Given the description of an element on the screen output the (x, y) to click on. 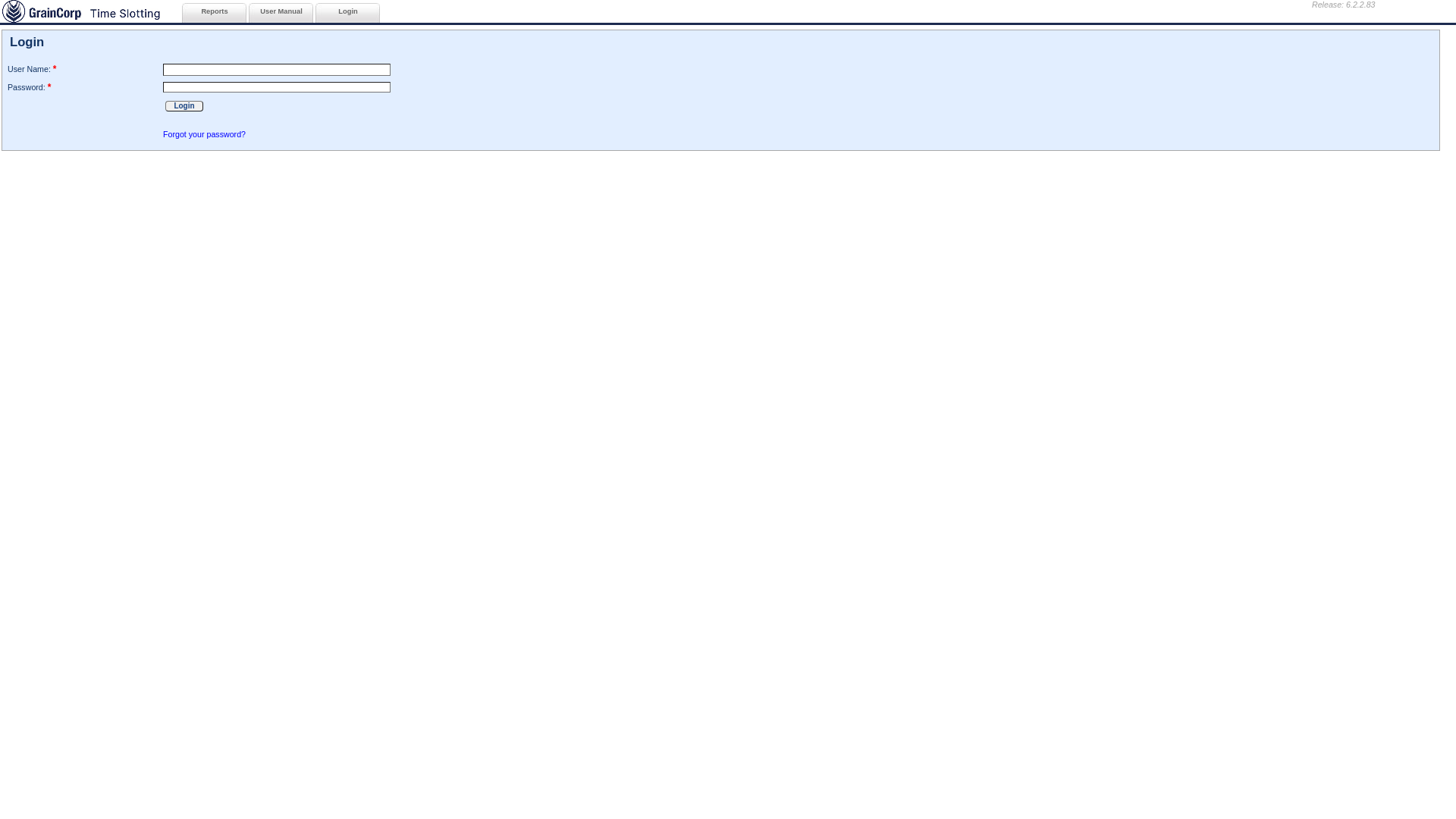
Forgot your password? Element type: text (204, 133)
Login Element type: text (184, 105)
Login Element type: text (348, 11)
User Manual Element type: text (281, 11)
